Given the description of an element on the screen output the (x, y) to click on. 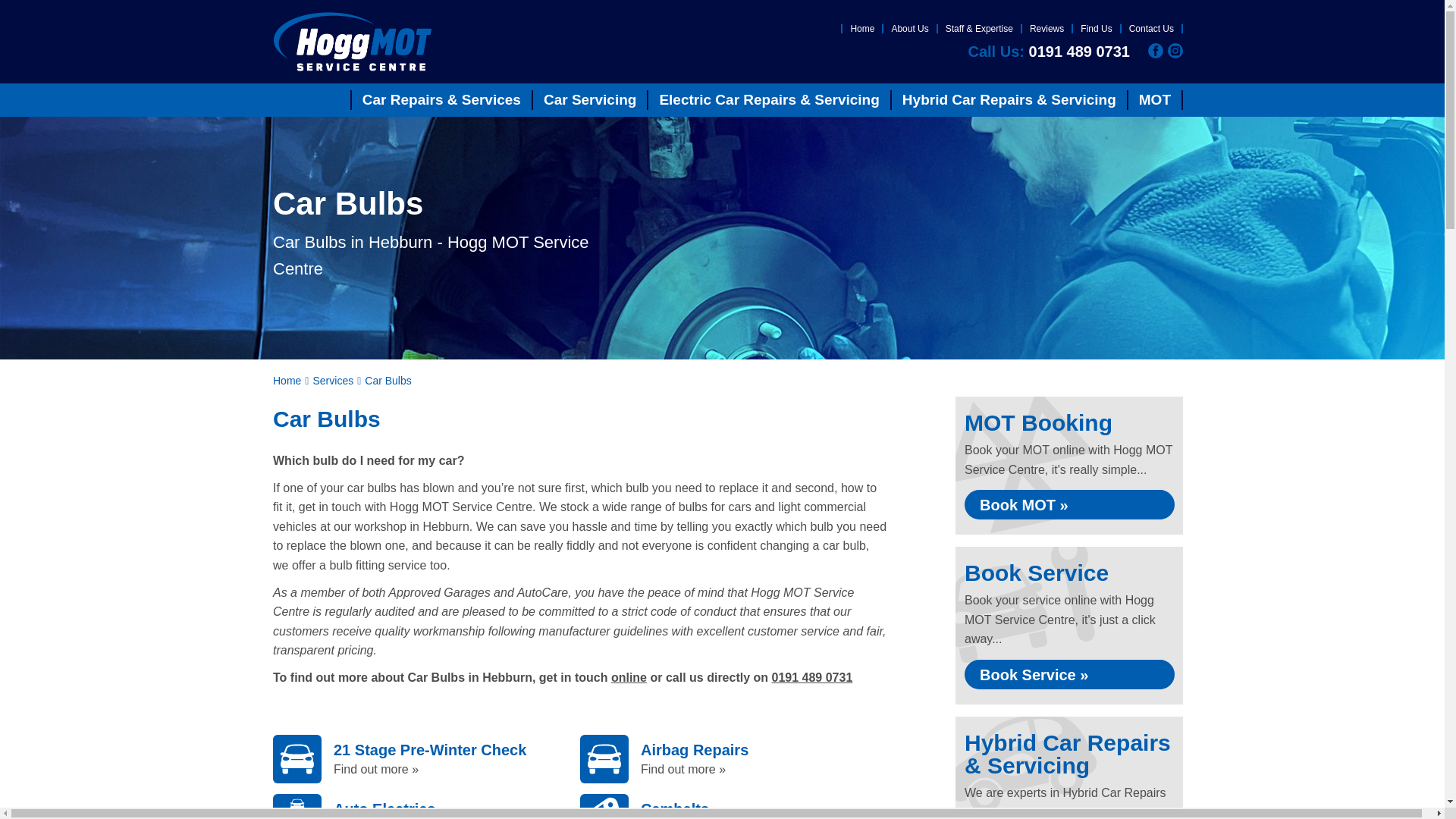
Call Us: 0191 489 0731 (1048, 51)
Reviews (1046, 28)
Contact Us (1151, 28)
Home (862, 28)
Find Us (1096, 28)
About Us (909, 28)
